Given the description of an element on the screen output the (x, y) to click on. 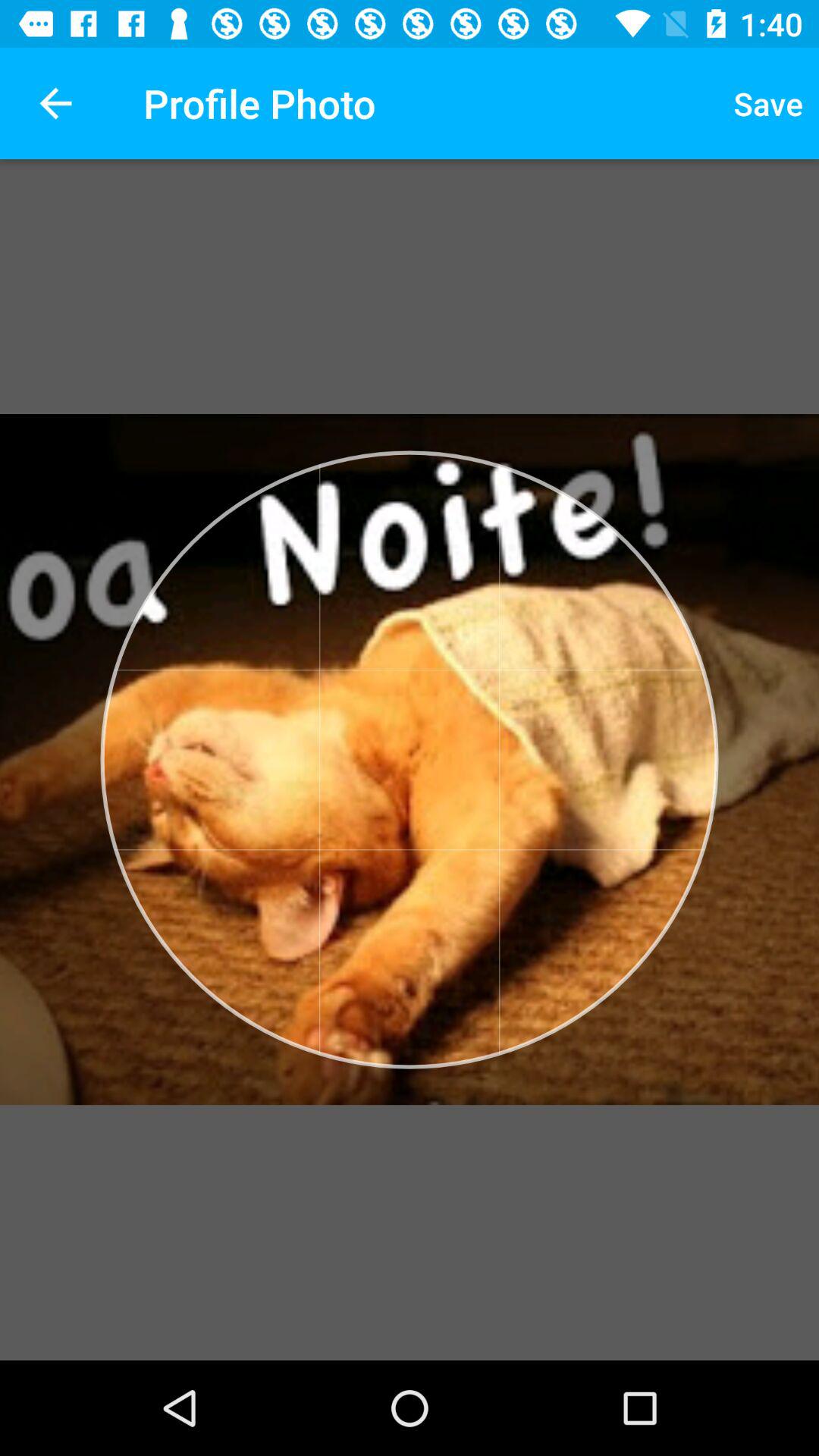
click the icon to the right of profile photo item (768, 103)
